Given the description of an element on the screen output the (x, y) to click on. 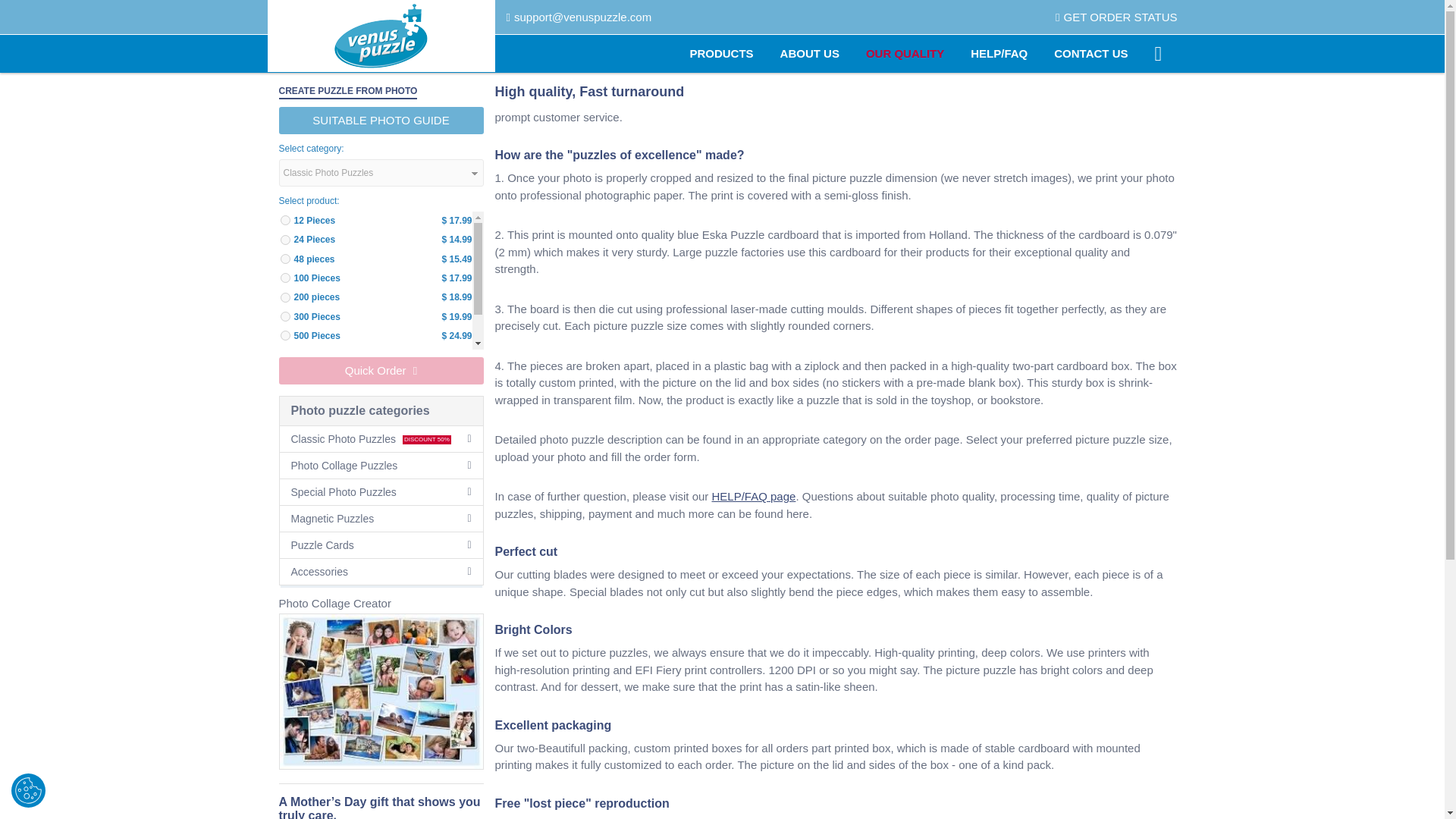
2 (285, 220)
GET ORDER STATUS (1116, 17)
CONTACT US (1090, 53)
SUITABLE PHOTO GUIDE (381, 120)
ABOUT US (810, 53)
Photo collage  (381, 691)
High quality, Fast turnaround (904, 53)
4 (285, 316)
3 (285, 277)
Shopping cart (1165, 53)
81286 (285, 297)
9 (285, 374)
Quick Order (381, 370)
Venus Puzzle (381, 35)
7 (285, 355)
